Given the description of an element on the screen output the (x, y) to click on. 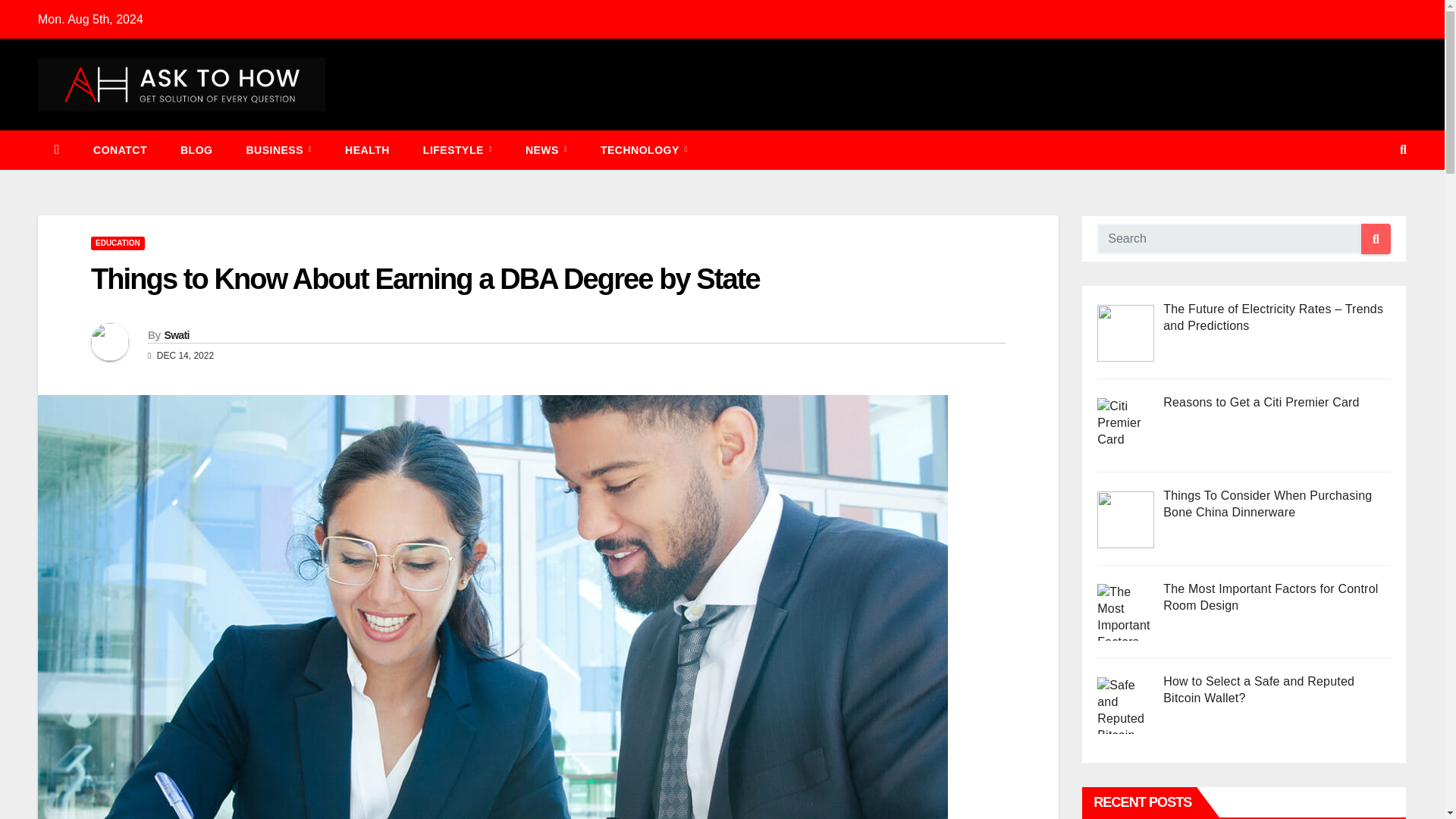
Lifestyle (457, 149)
Blog (195, 149)
Technology (643, 149)
LIFESTYLE (457, 149)
Swati (176, 335)
BUSINESS (278, 149)
HEALTH (367, 149)
TECHNOLOGY (643, 149)
NEWS (545, 149)
Health (367, 149)
